Given the description of an element on the screen output the (x, y) to click on. 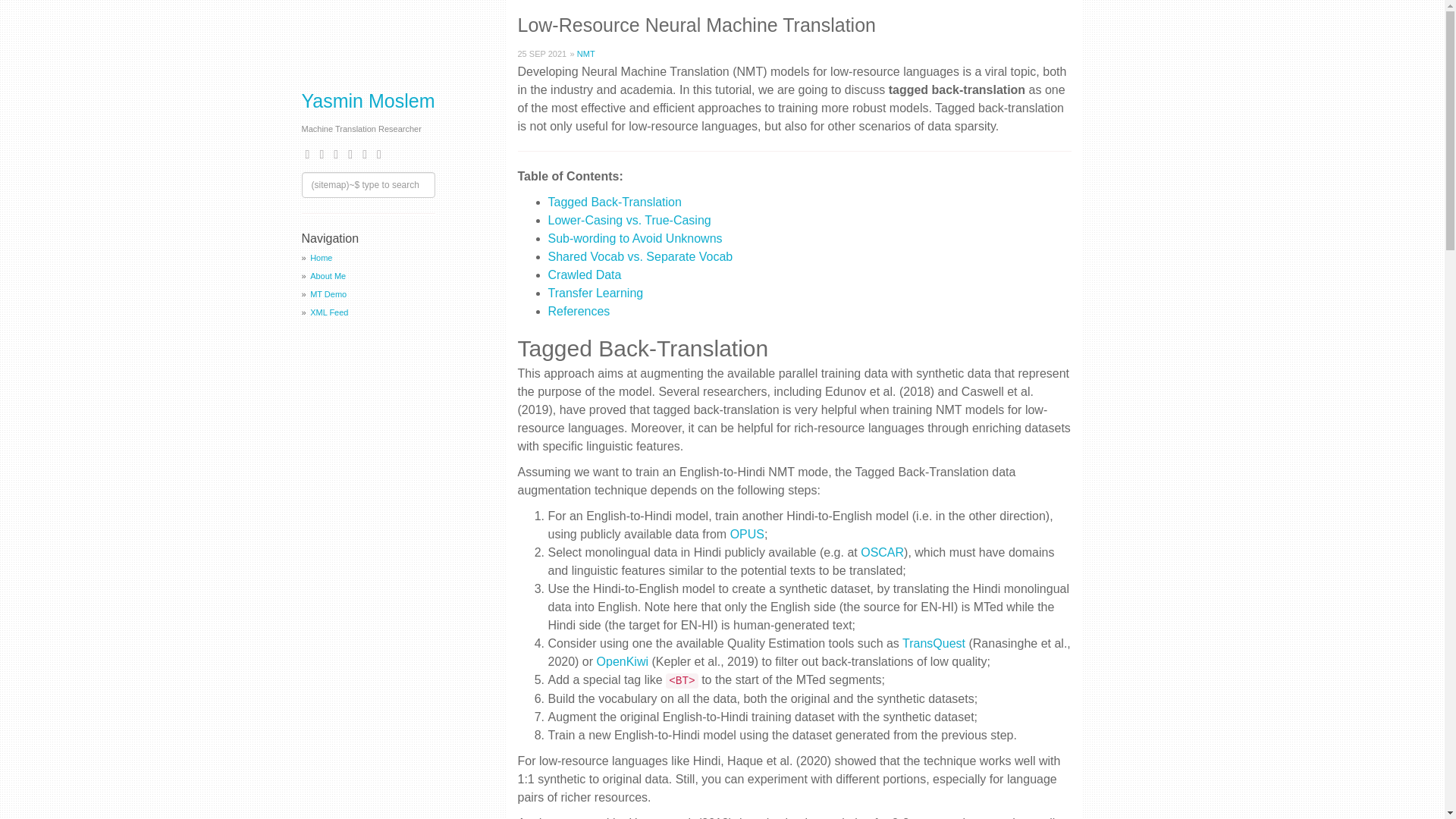
Transfer Learning (595, 292)
Yasmin Moslem (368, 100)
Crawled Data (584, 274)
Sub-wording to Avoid Unknowns (634, 237)
Lower-Casing vs. True-Casing (628, 219)
TransQuest (933, 643)
Shared Vocab vs. Separate Vocab (639, 256)
MT Demo (328, 293)
References (578, 310)
NMT (585, 52)
